Given the description of an element on the screen output the (x, y) to click on. 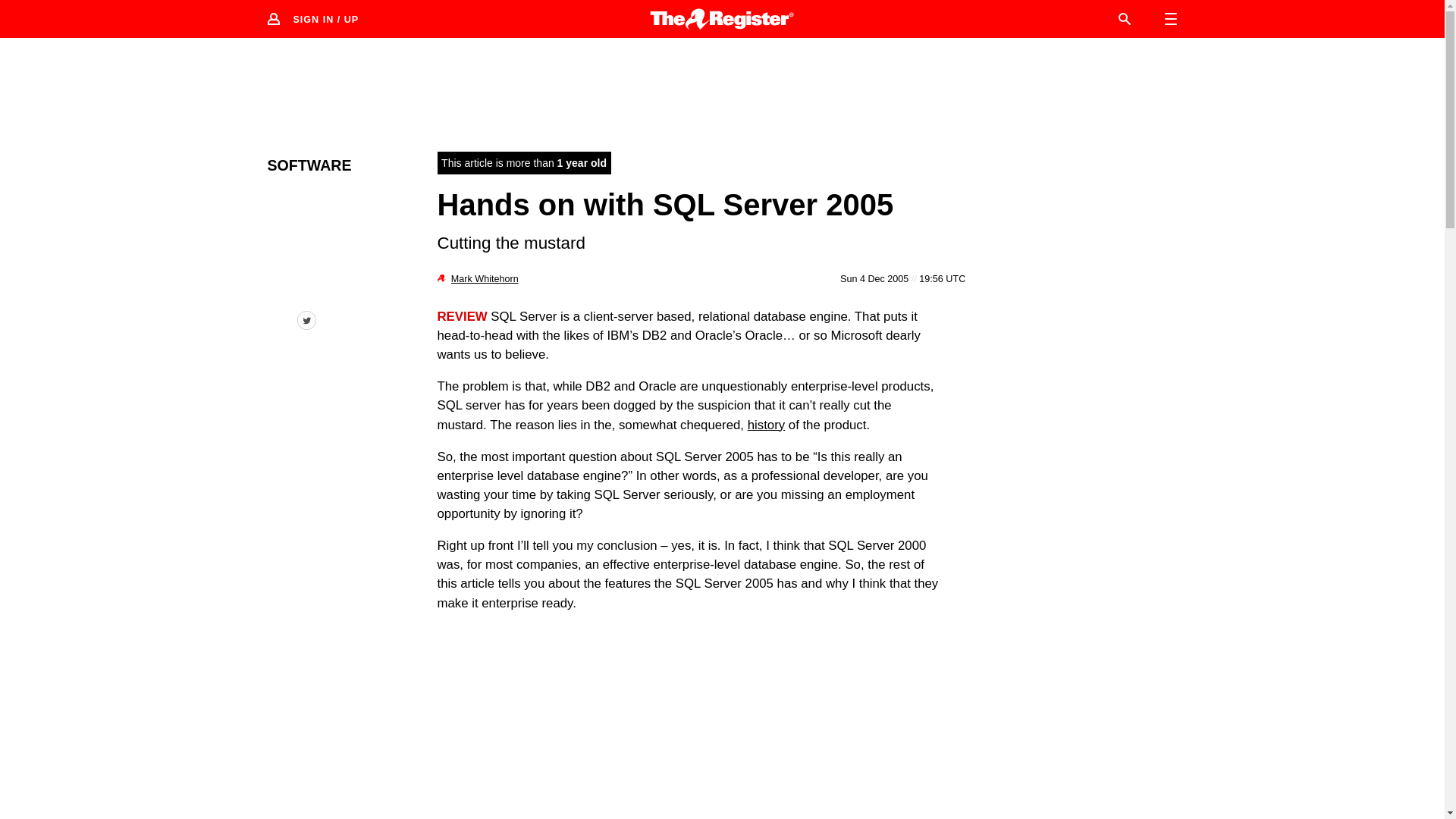
Read more by this author (484, 278)
